Given the description of an element on the screen output the (x, y) to click on. 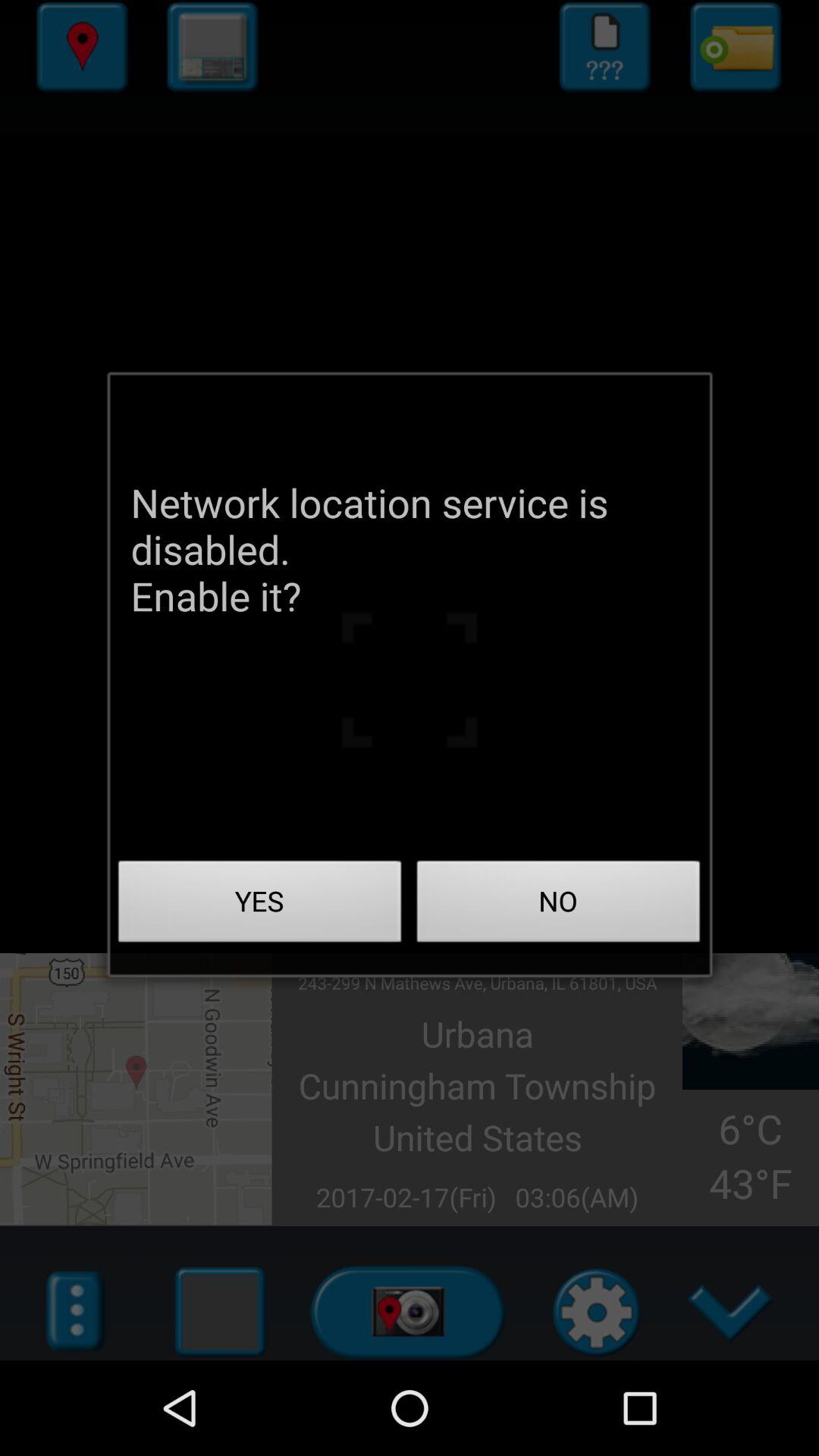
turn on the item next to the no icon (259, 905)
